Given the description of an element on the screen output the (x, y) to click on. 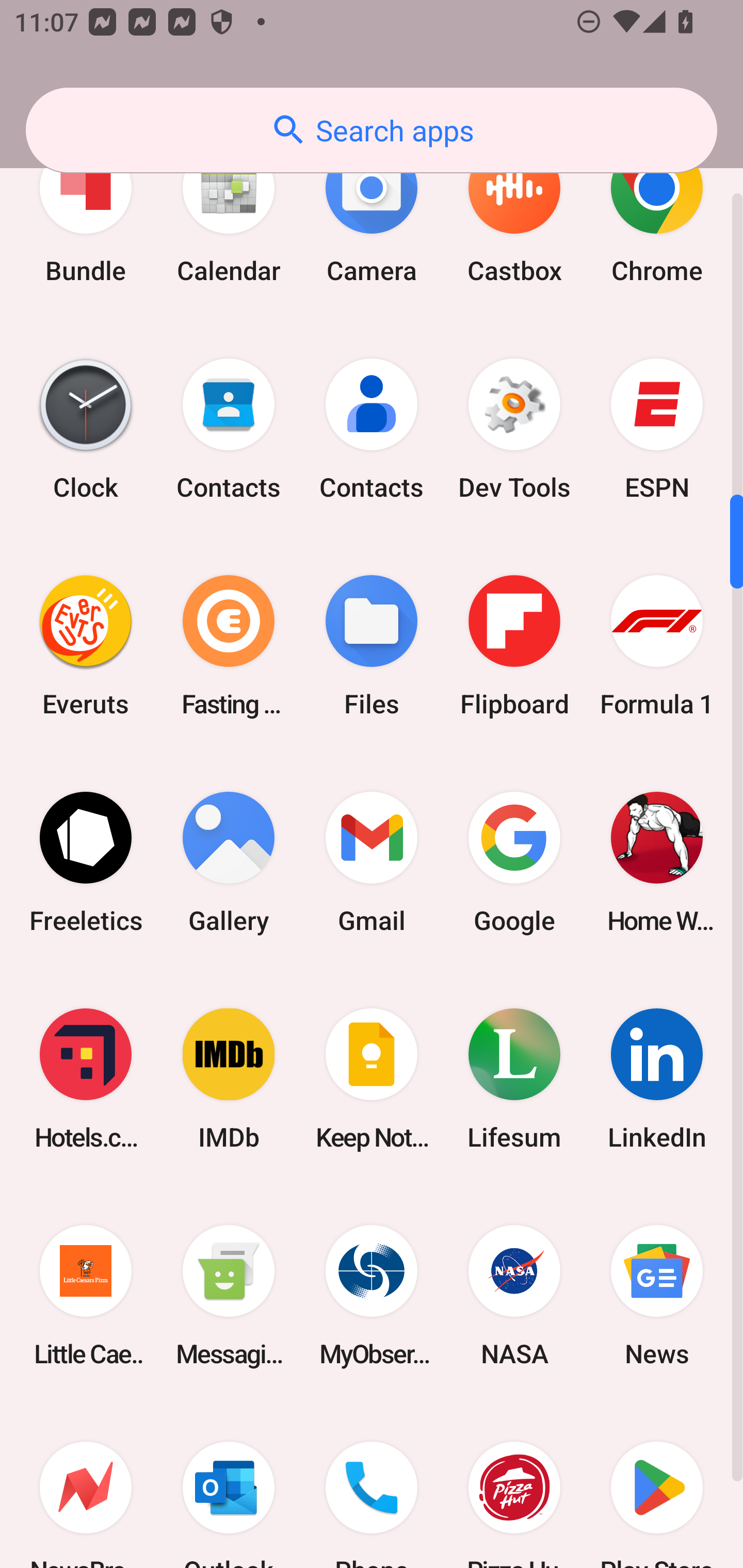
  Search apps (371, 130)
Bundle (85, 212)
Calendar (228, 212)
Camera (371, 212)
Castbox (514, 212)
Chrome (656, 212)
Clock (85, 429)
Contacts (228, 429)
Contacts (371, 429)
Dev Tools (514, 429)
ESPN (656, 429)
Everuts (85, 645)
Fasting Coach (228, 645)
Files (371, 645)
Flipboard (514, 645)
Formula 1 (656, 645)
Freeletics (85, 862)
Gallery (228, 862)
Gmail (371, 862)
Google (514, 862)
Home Workout (656, 862)
Hotels.com (85, 1078)
IMDb (228, 1078)
Keep Notes (371, 1078)
Lifesum (514, 1078)
LinkedIn (656, 1078)
Little Caesars Pizza (85, 1294)
Messaging (228, 1294)
MyObservatory (371, 1294)
NASA (514, 1294)
News (656, 1294)
NewsBreak (85, 1485)
Outlook (228, 1485)
Phone (371, 1485)
Pizza Hut HK & Macau (514, 1485)
Play Store (656, 1485)
